Given the description of an element on the screen output the (x, y) to click on. 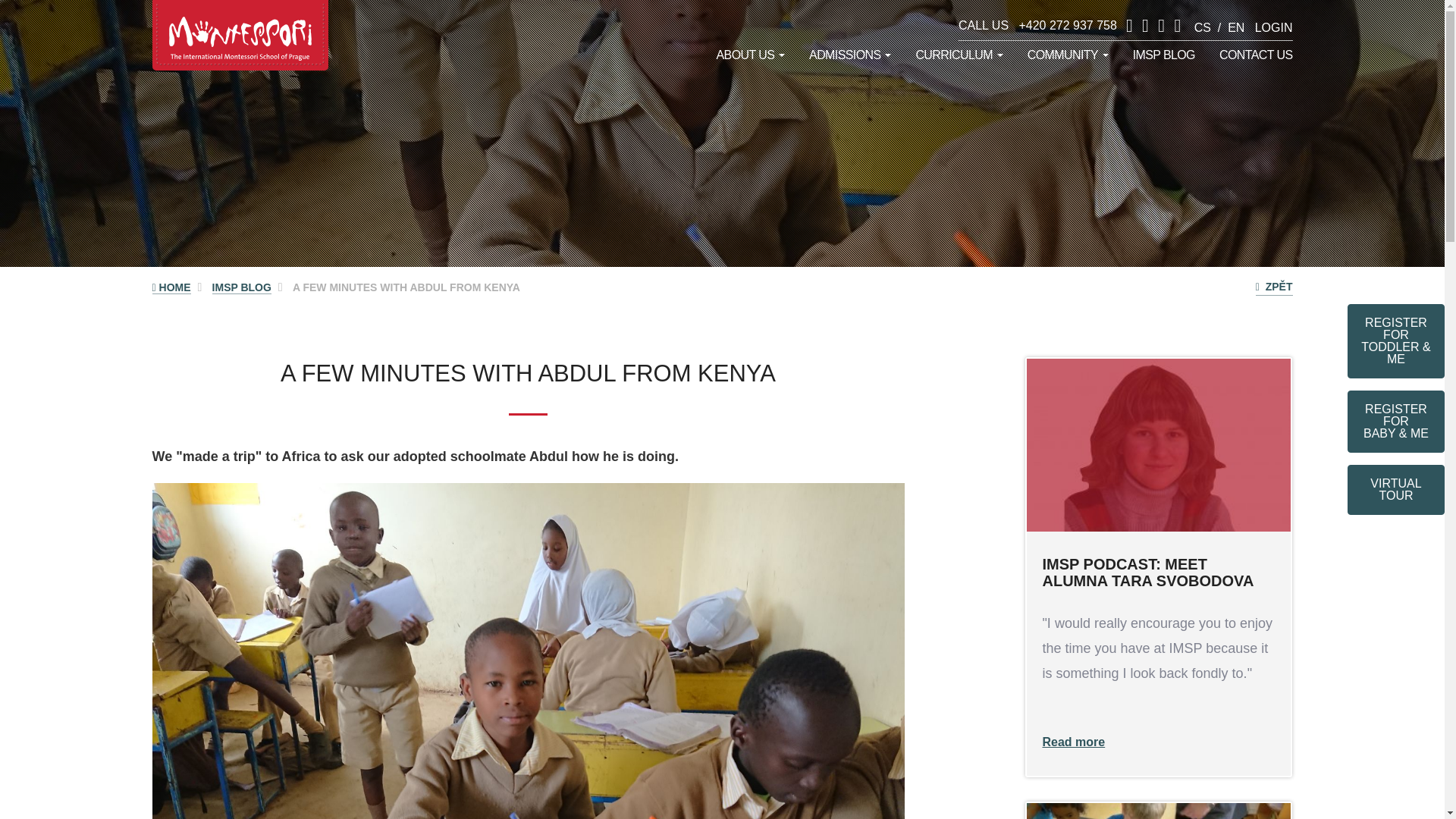
CS (1202, 27)
ADMISSIONS (849, 54)
CURRICULUM (958, 54)
ABOUT US (750, 54)
EN (1235, 27)
HOME (170, 287)
COMMUNITY (1067, 54)
CONTACT US (1249, 54)
IMSP BLOG (1164, 54)
A FEW MINUTES WITH ABDUL FROM KENYA (405, 287)
LOGIN (1273, 27)
